Given the description of an element on the screen output the (x, y) to click on. 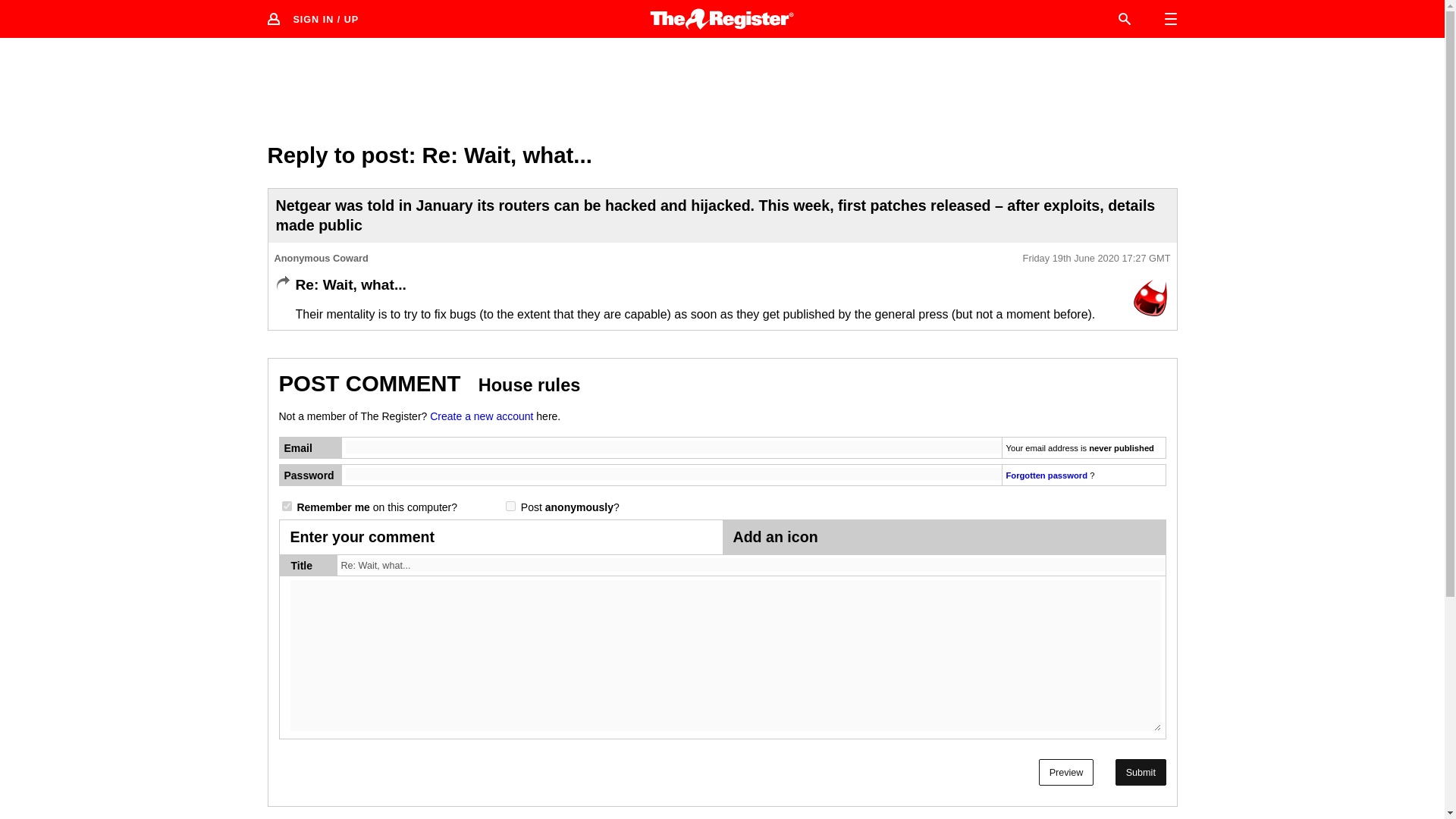
The spawn of satan (1149, 297)
In reply to (282, 283)
1 (510, 505)
Re: Wait, what... (753, 564)
Submit (1140, 772)
Preview (1066, 772)
1 (287, 505)
Permalink to this post (1096, 258)
